Given the description of an element on the screen output the (x, y) to click on. 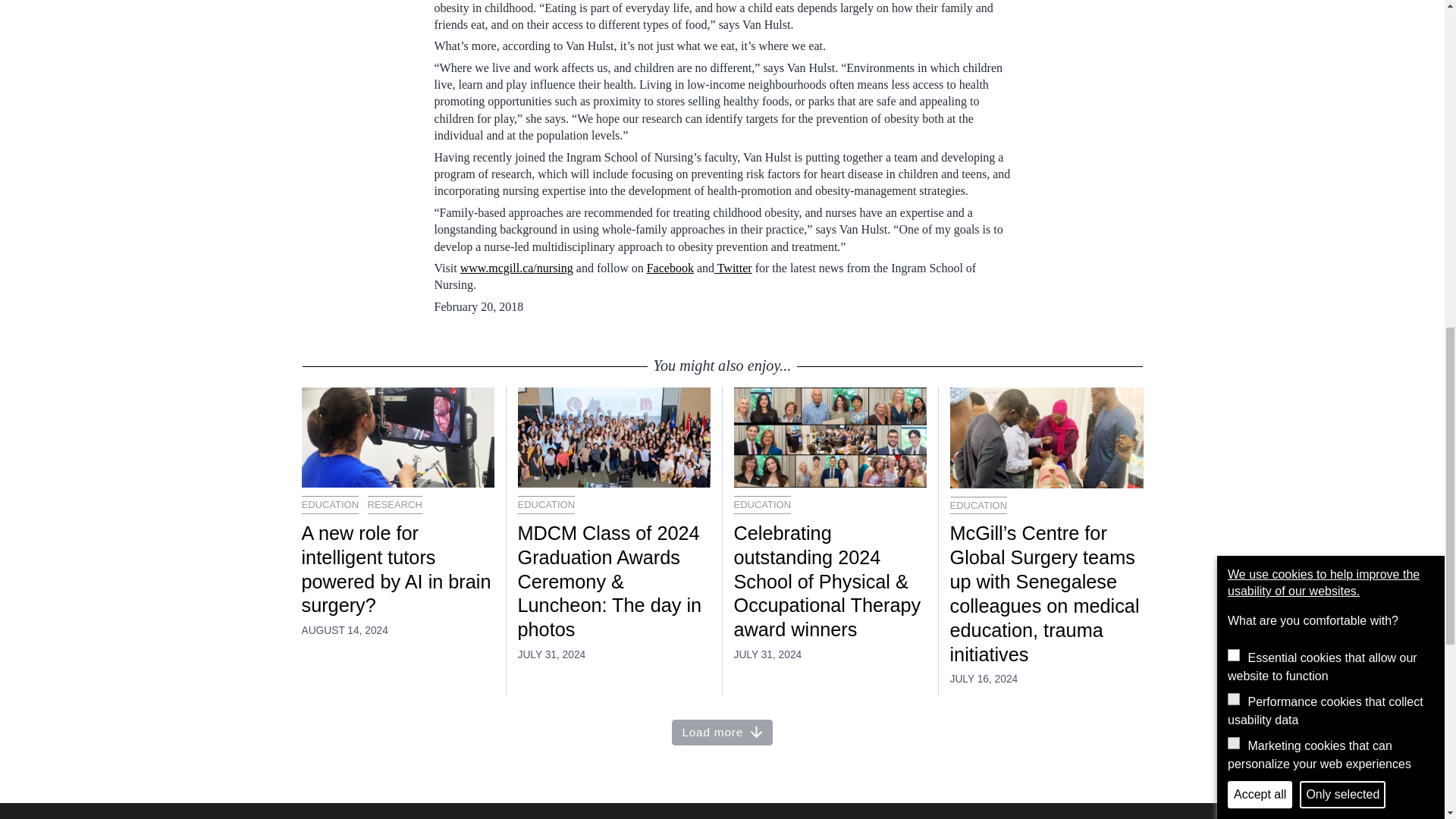
Load more (722, 732)
 Twitter (733, 267)
RESEARCH (395, 505)
EDUCATION (545, 505)
EDUCATION (330, 505)
EDUCATION (762, 505)
Facebook (670, 267)
EDUCATION (978, 505)
